Given the description of an element on the screen output the (x, y) to click on. 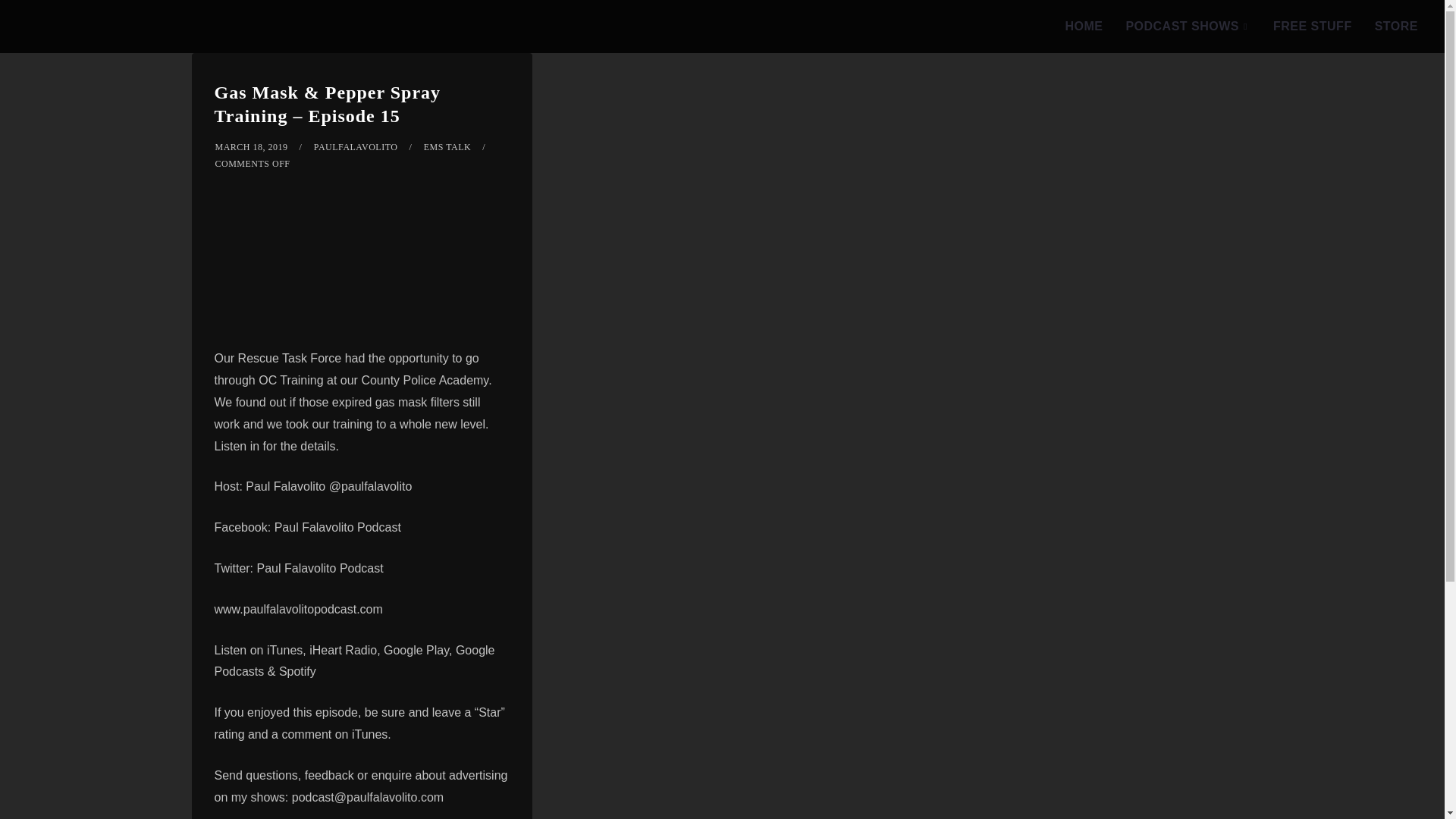
FREE STUFF (1312, 26)
MARCH 18, 2019 (251, 146)
PAULFALAVOLITO (355, 146)
STORE (1395, 26)
HOME (1082, 26)
PODCAST SHOWS (1187, 26)
EMS TALK (447, 146)
